Given the description of an element on the screen output the (x, y) to click on. 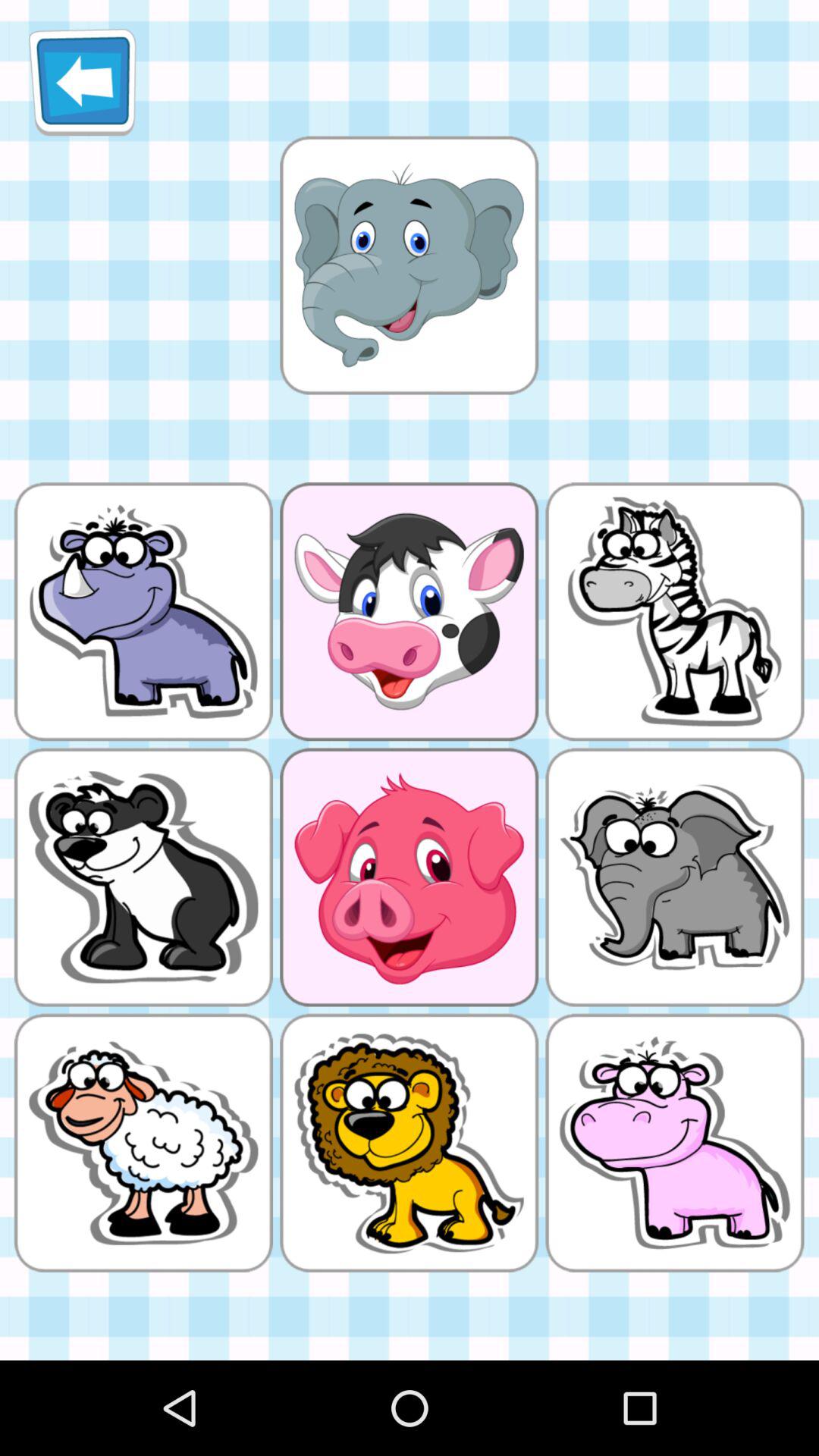
landslip (409, 264)
